Given the description of an element on the screen output the (x, y) to click on. 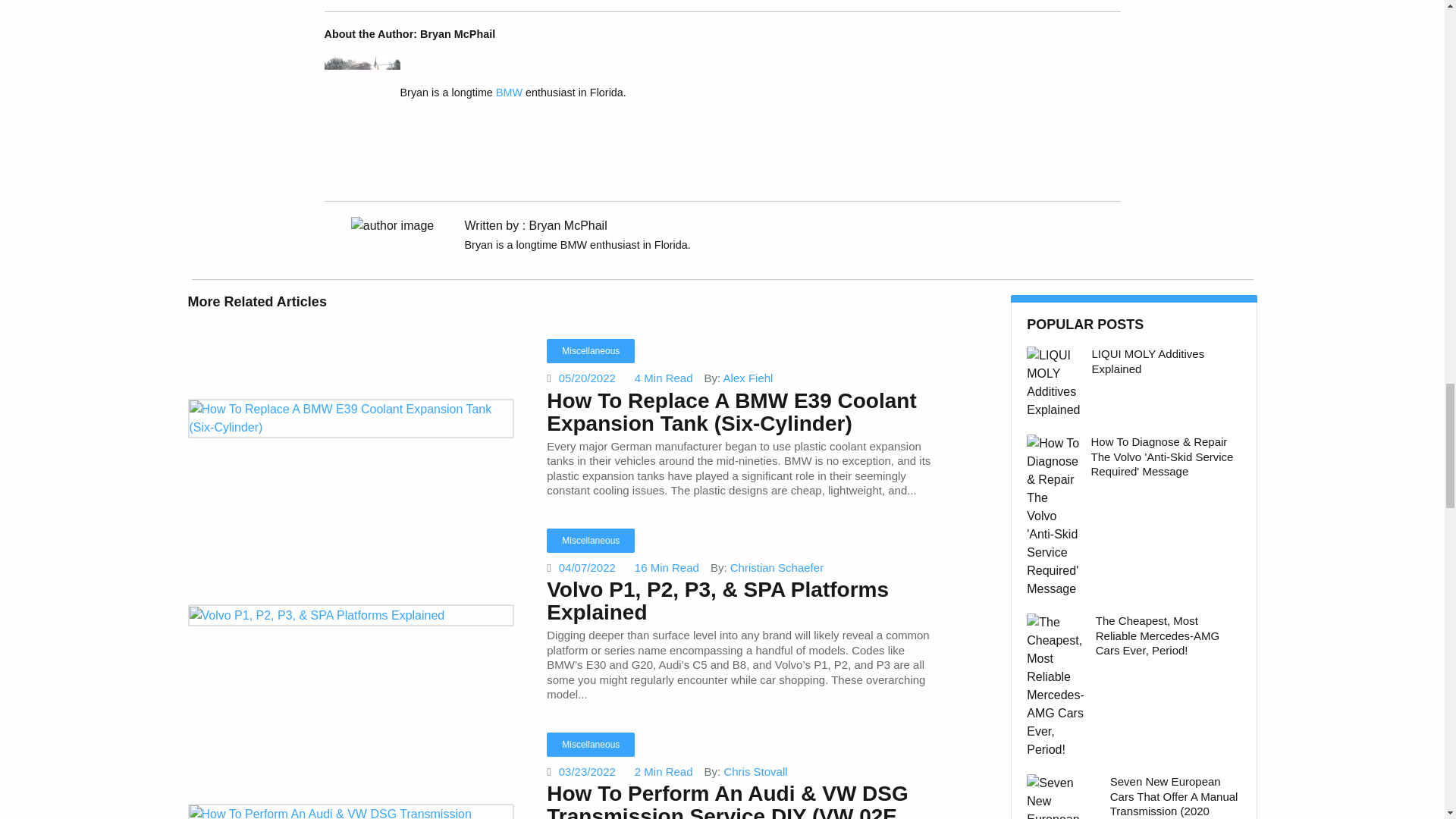
BMW Parts (509, 92)
